Given the description of an element on the screen output the (x, y) to click on. 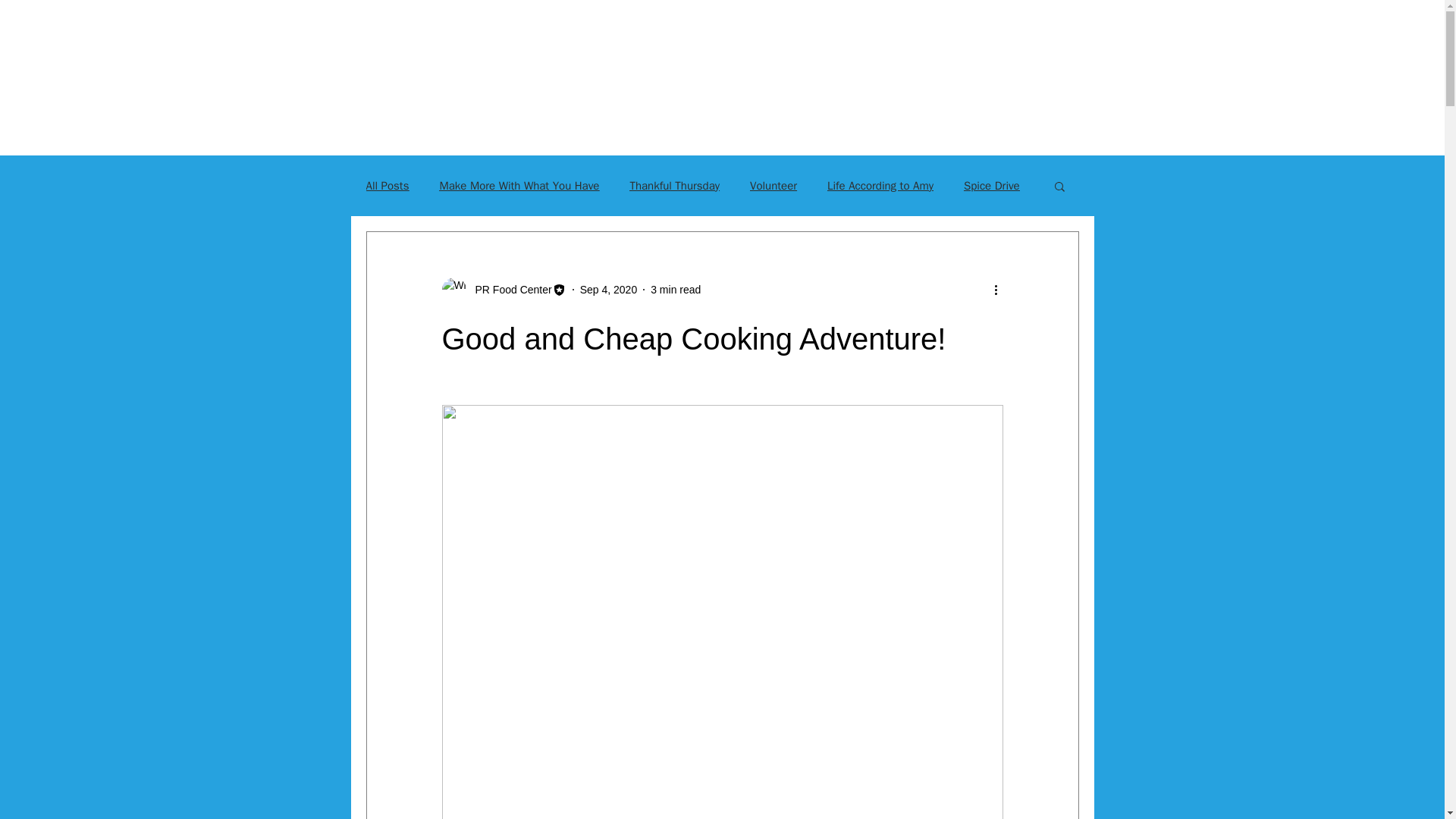
Spice Drive (991, 186)
All Posts (387, 186)
Volunteer (772, 186)
Thankful Thursday (673, 186)
Make More With What You Have (518, 186)
Sep 4, 2020 (608, 289)
Life According to Amy (880, 186)
3 min read (675, 289)
PR Food Center (508, 289)
